Given the description of an element on the screen output the (x, y) to click on. 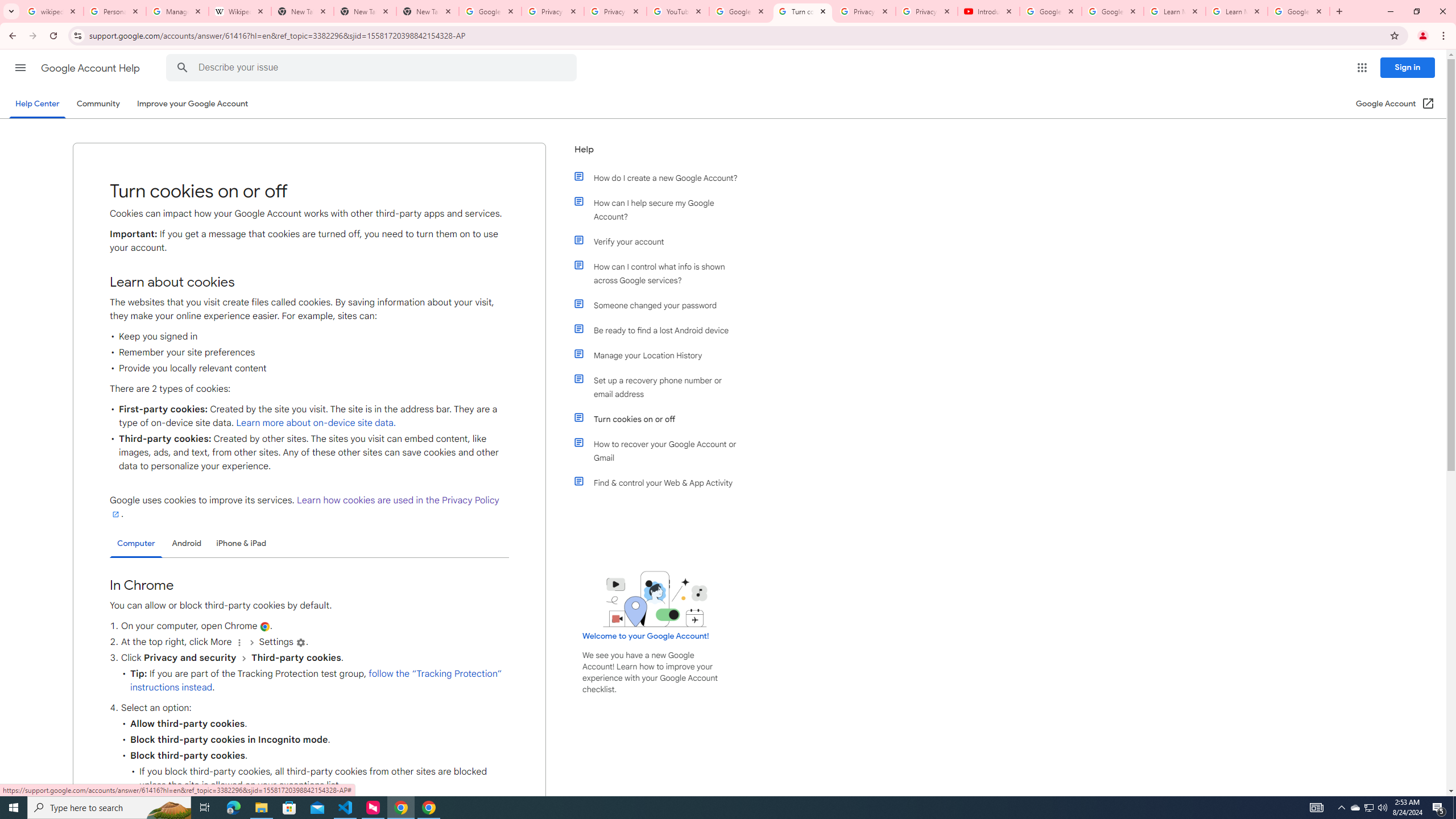
New Tab (365, 11)
Google Account (Open in a new window) (1395, 103)
Learn how cookies are used in the Privacy Policy (304, 507)
Computer (136, 543)
Main menu (20, 67)
Be ready to find a lost Android device (661, 330)
Community (97, 103)
How to recover your Google Account or Gmail (661, 450)
Google Account Help (1111, 11)
